Given the description of an element on the screen output the (x, y) to click on. 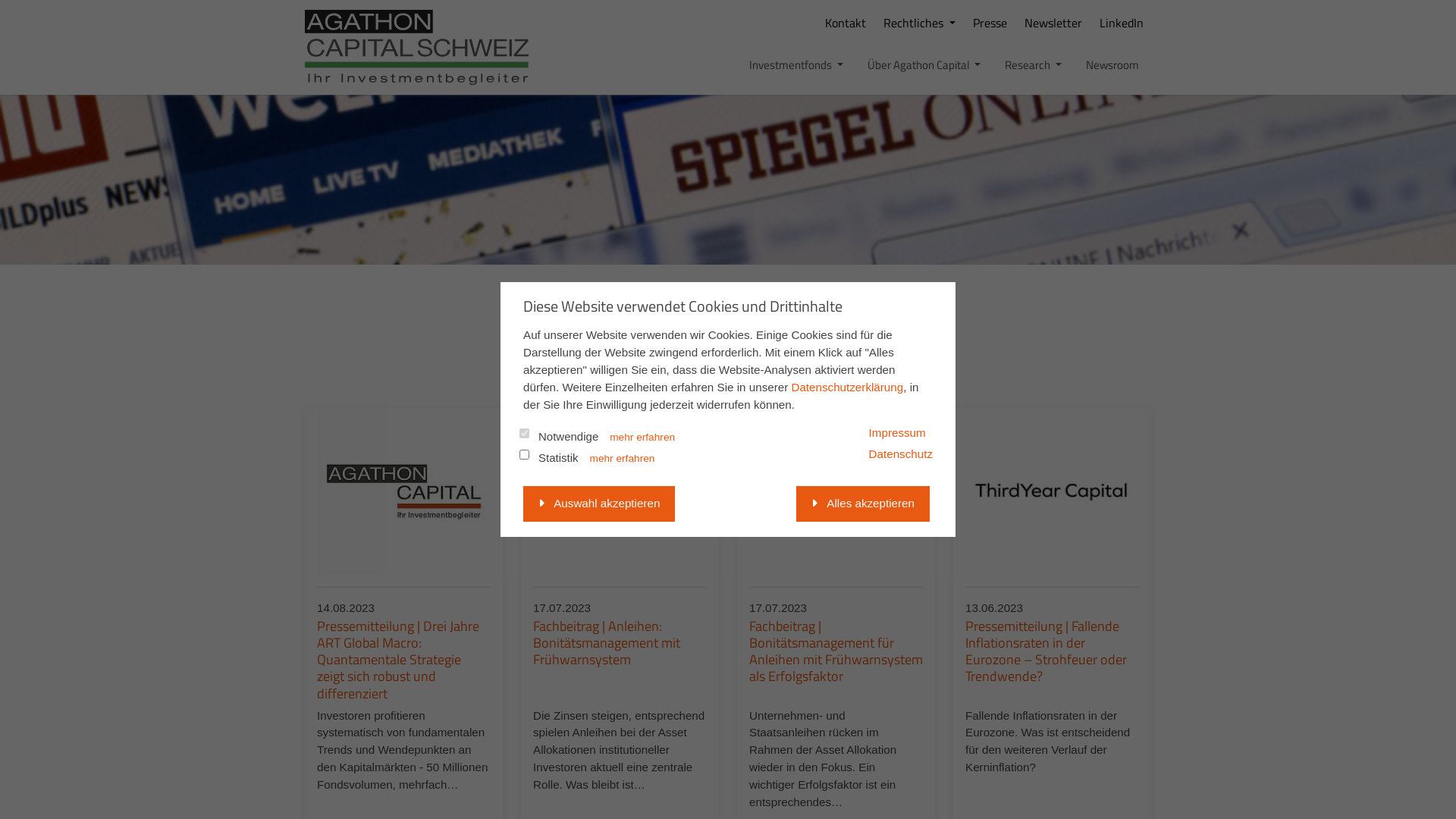
Newsroom Element type: text (166, 170)
Alles akzeptieren Element type: text (862, 503)
3 Element type: text (710, 382)
Investmentfonds Element type: text (147, 56)
Rechtliches Element type: text (919, 22)
Newsroom Element type: text (1112, 65)
2 Element type: text (685, 382)
Auswahl akzeptieren Element type: text (598, 503)
Impressum Element type: text (897, 432)
4 Element type: text (736, 382)
Presse Element type: text (989, 22)
Research Element type: text (1032, 65)
Newsletter Element type: text (1053, 22)
Open submenu Element type: hover (313, 56)
Open submenu Element type: hover (313, 132)
Open submenu Element type: hover (313, 94)
Datenschutz Element type: text (900, 453)
1 Element type: text (659, 382)
LinkedIn Element type: text (1121, 22)
Research Element type: text (147, 132)
Kontakt Element type: text (845, 22)
Investmentfonds Element type: text (796, 65)
